Given the description of an element on the screen output the (x, y) to click on. 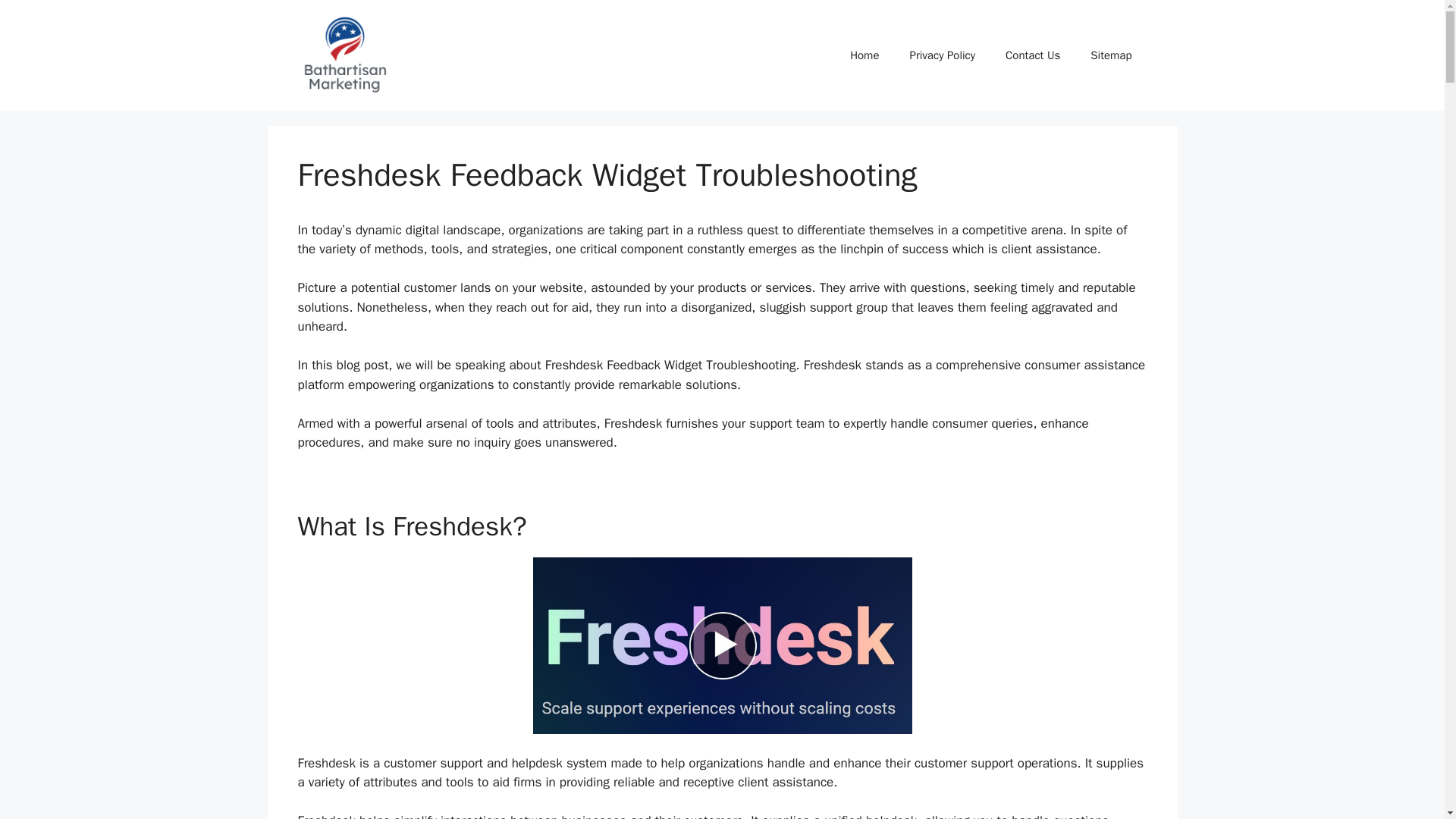
Sitemap (1111, 54)
Contact Us (1032, 54)
Privacy Policy (941, 54)
Home (863, 54)
